Given the description of an element on the screen output the (x, y) to click on. 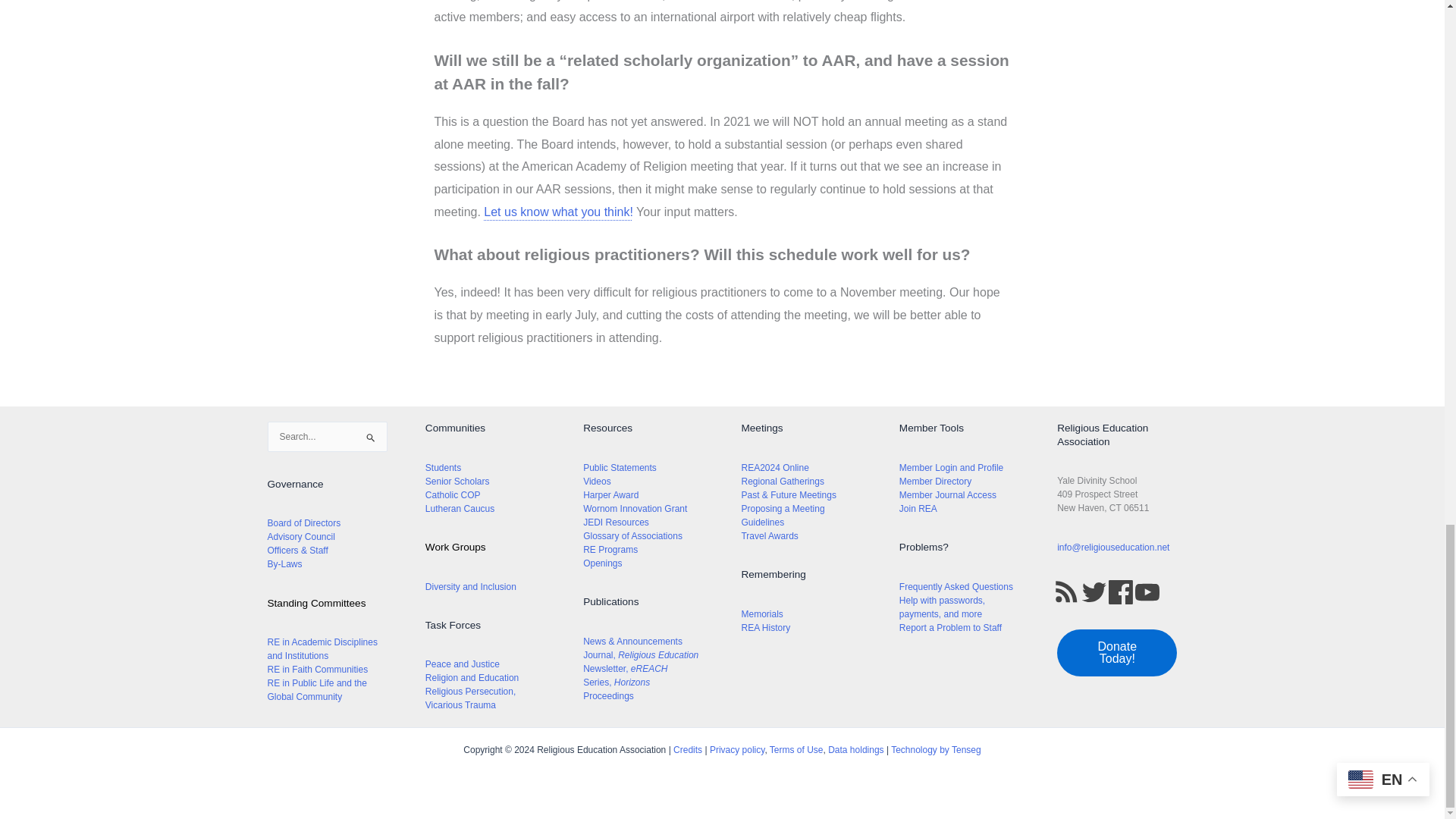
Twitter (1093, 591)
RSS Feed (1066, 591)
Facebook (1120, 591)
YouTube (1146, 591)
